Given the description of an element on the screen output the (x, y) to click on. 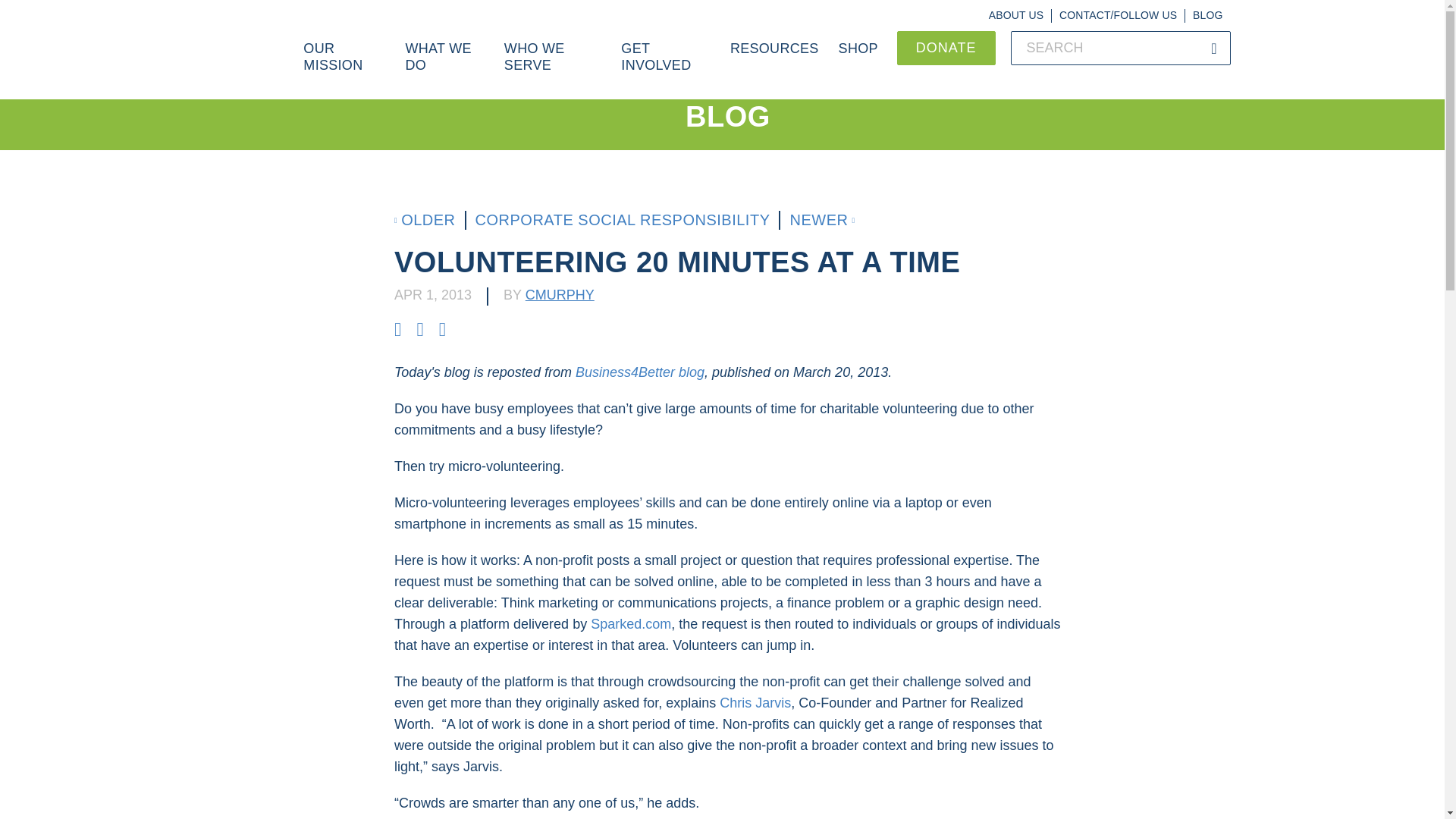
ABOUT US (1016, 15)
WHAT WE DO (443, 65)
BLOG (1207, 15)
OUR MISSION (344, 65)
Click to share this post on Twitter (422, 329)
WHO WE SERVE (553, 65)
